Given the description of an element on the screen output the (x, y) to click on. 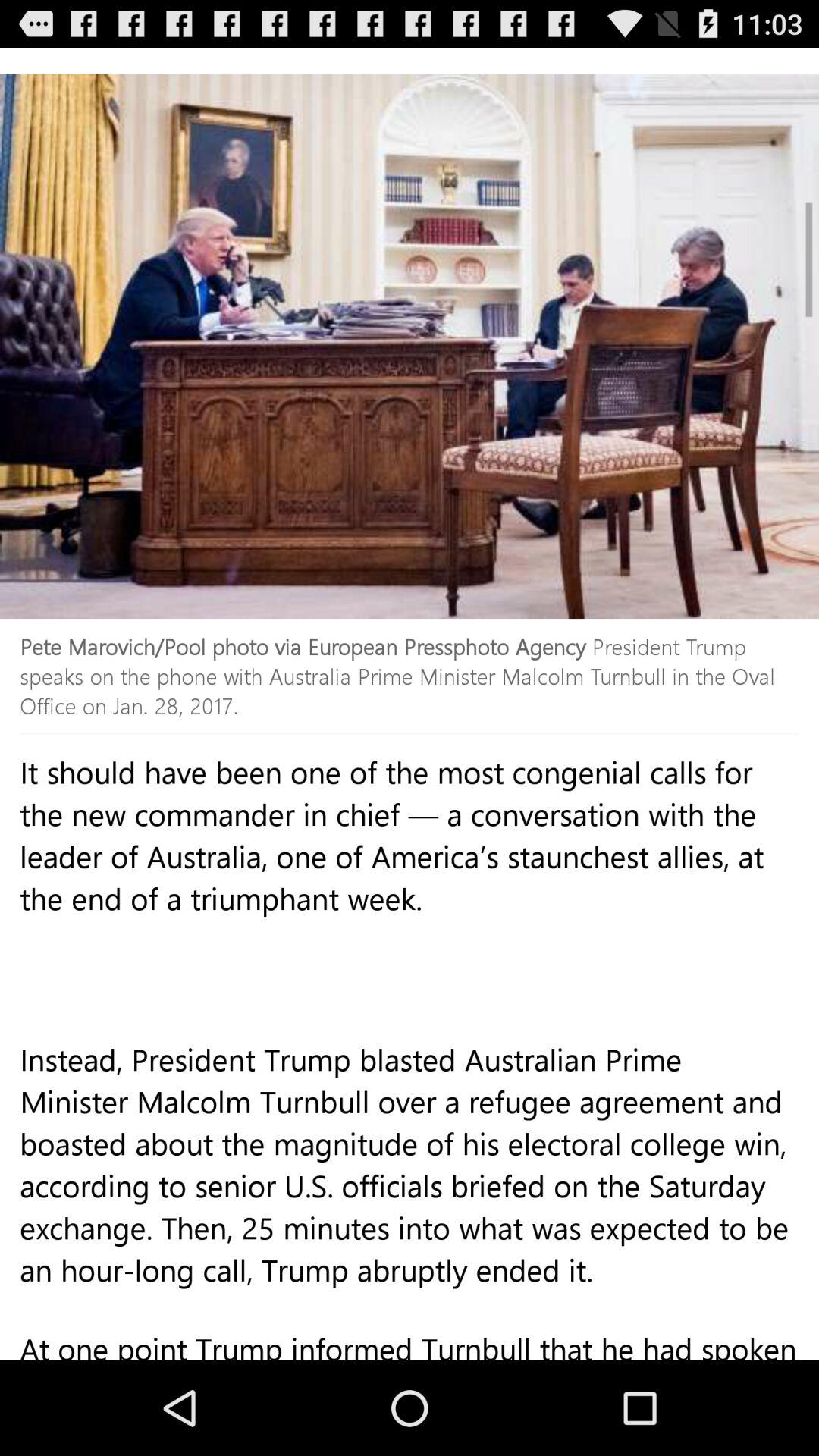
swipe to it should have (409, 908)
